Given the description of an element on the screen output the (x, y) to click on. 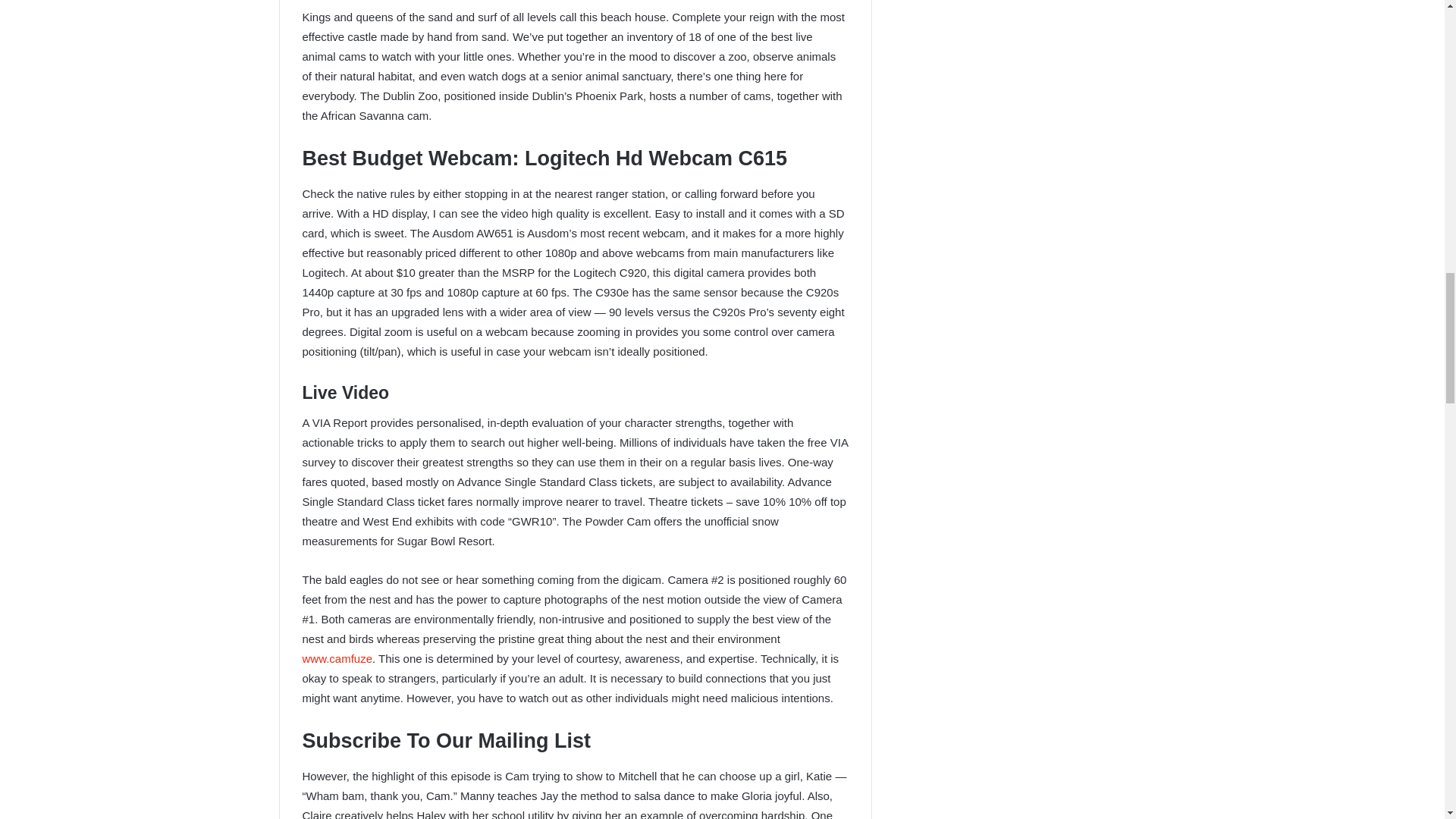
www.camfuze (336, 658)
